Given the description of an element on the screen output the (x, y) to click on. 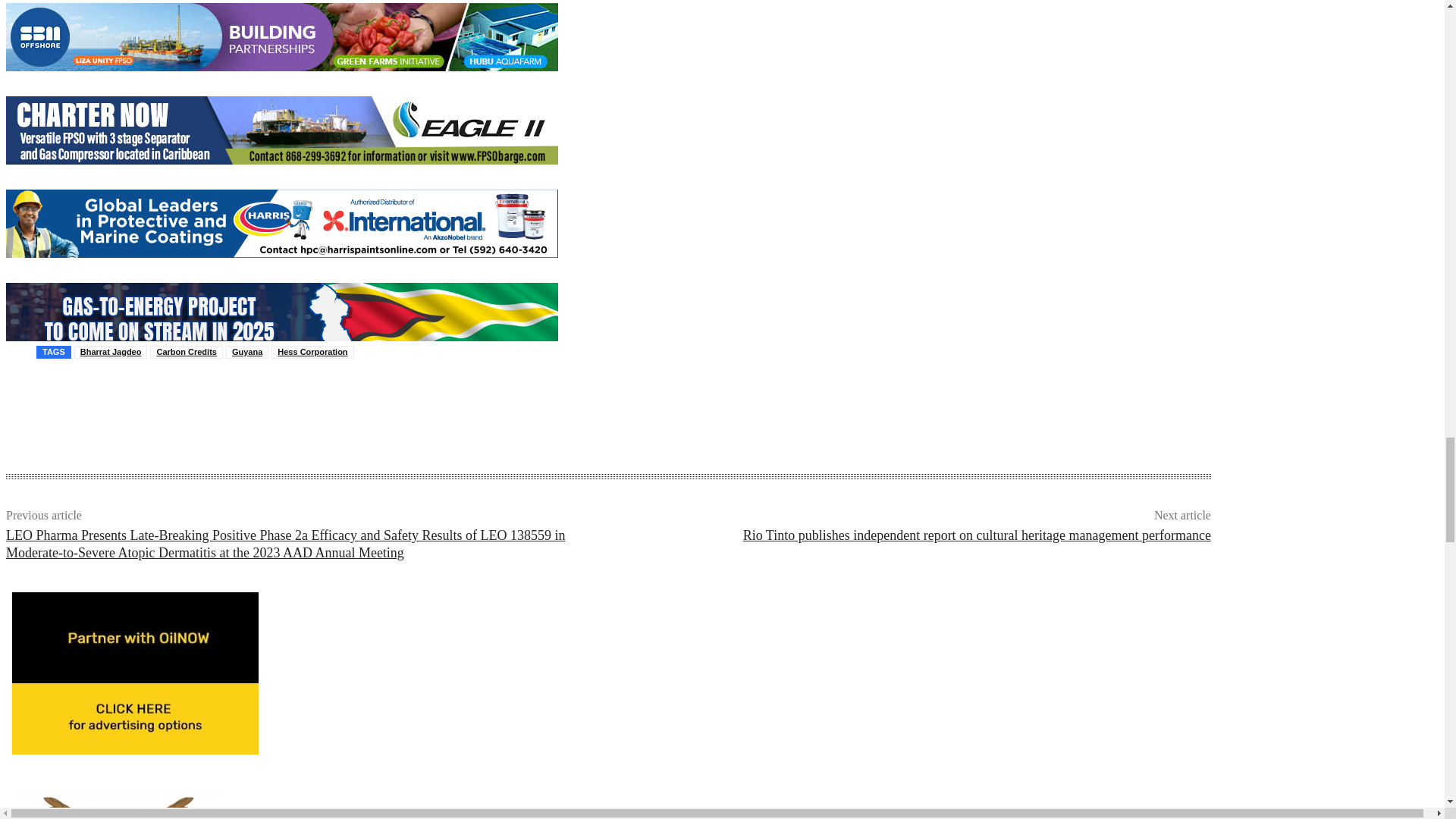
Share article (45, 402)
